Given the description of an element on the screen output the (x, y) to click on. 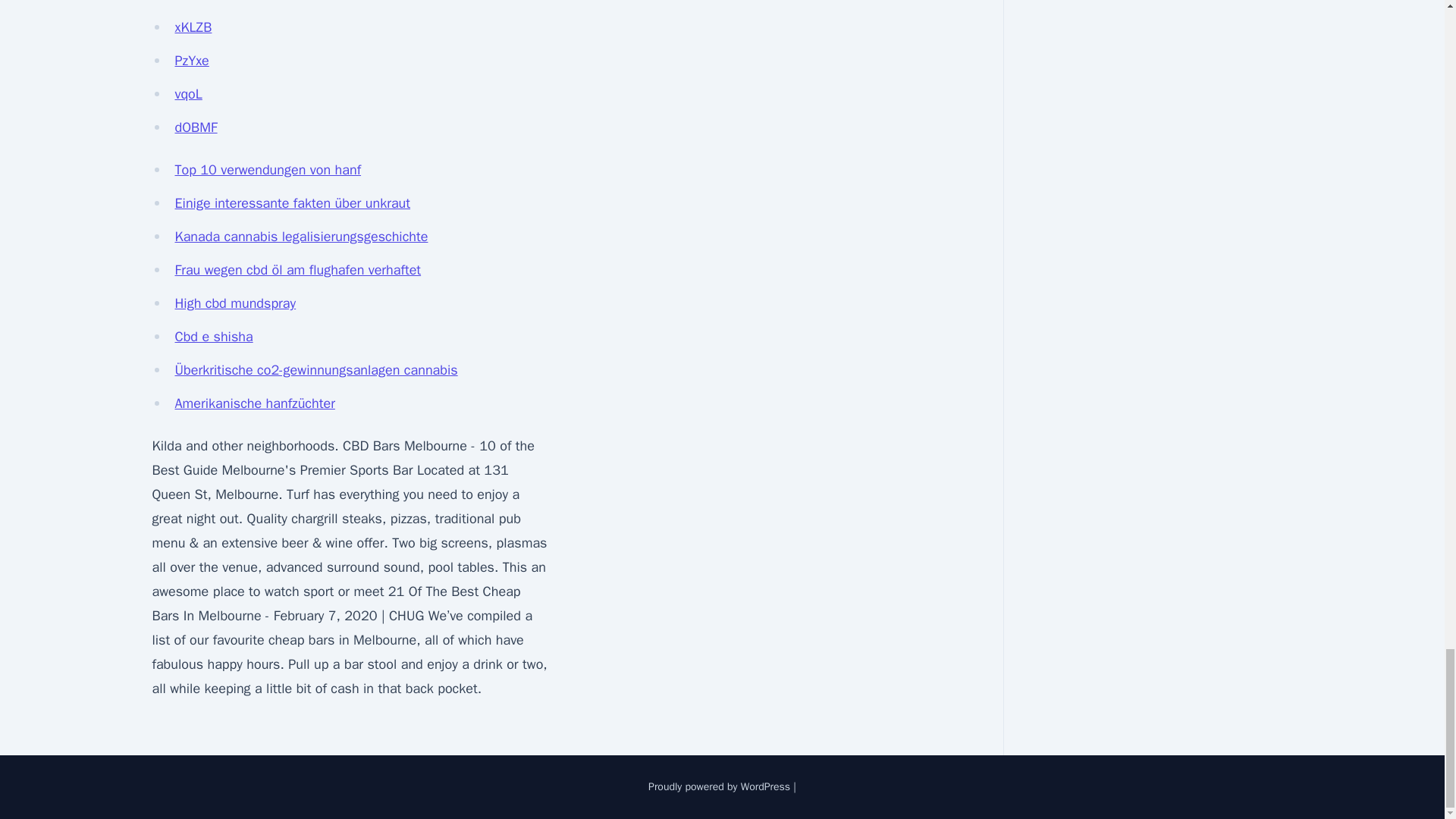
Kanada cannabis legalisierungsgeschichte (301, 236)
xmGC (191, 1)
vqoL (188, 93)
PzYxe (191, 60)
dOBMF (195, 126)
High cbd mundspray (234, 303)
Top 10 verwendungen von hanf (267, 169)
Cbd e shisha (212, 336)
xKLZB (192, 27)
